Given the description of an element on the screen output the (x, y) to click on. 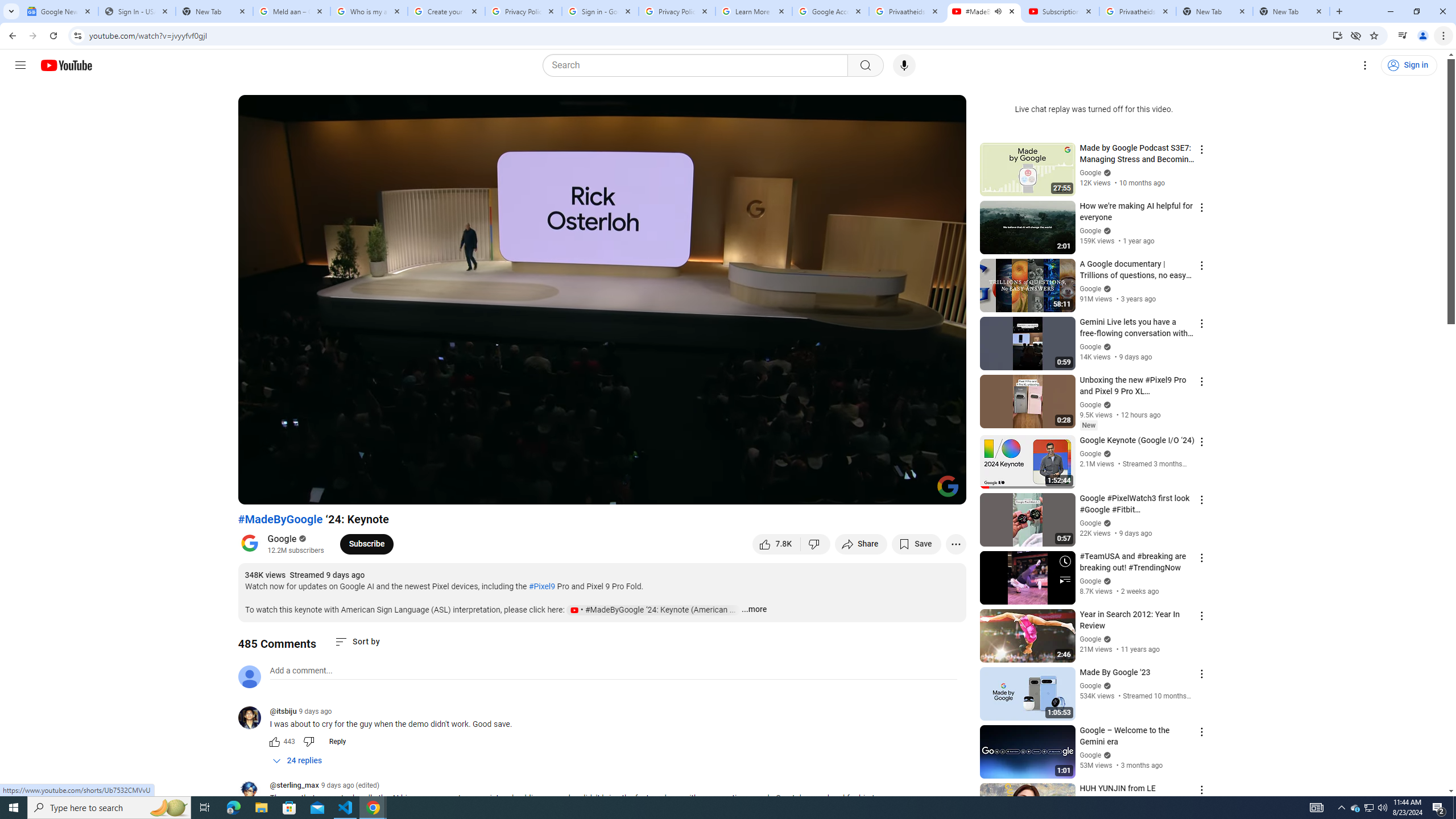
Theater mode (t) (917, 490)
More actions (955, 543)
9 days ago (314, 710)
@itsbiju (253, 717)
New Tab (213, 11)
MadeByGoogle '24: Intro (426, 490)
Action menu (1200, 789)
New Tab (1291, 11)
...more (754, 609)
